Given the description of an element on the screen output the (x, y) to click on. 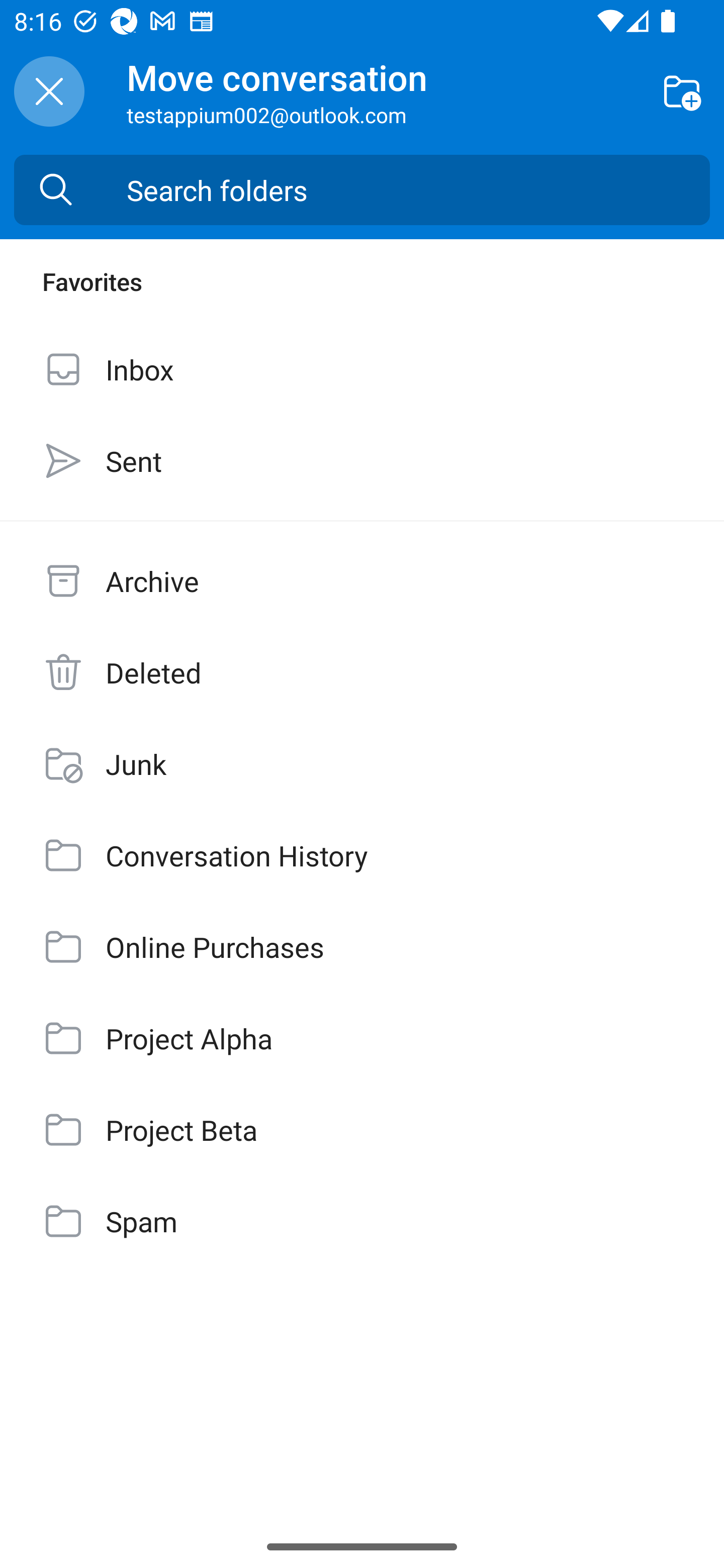
Move conversation, Cancel (49, 91)
Create new folder (681, 90)
Search folders (418, 190)
Inbox (362, 369)
Sent (362, 460)
Archive (362, 580)
Deleted (362, 672)
Junk (362, 763)
Conversation History (362, 855)
Online Purchases (362, 946)
Project Alpha (362, 1037)
Project Beta (362, 1129)
Spam (362, 1221)
